Given the description of an element on the screen output the (x, y) to click on. 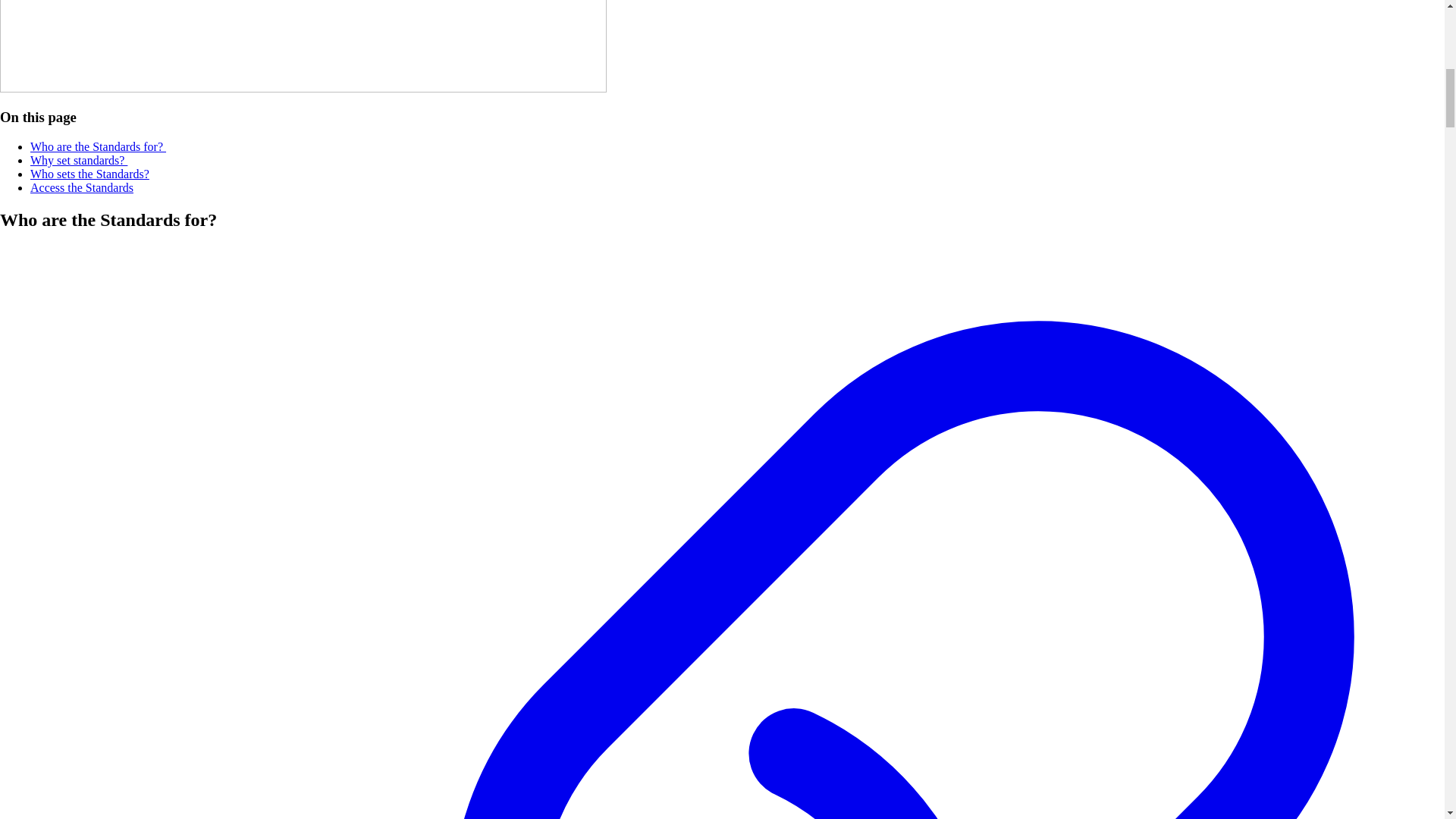
Access the Standards (81, 187)
Who sets the Standards? (89, 173)
Who are the Standards for?  (97, 146)
Why set standards?  (79, 160)
